Given the description of an element on the screen output the (x, y) to click on. 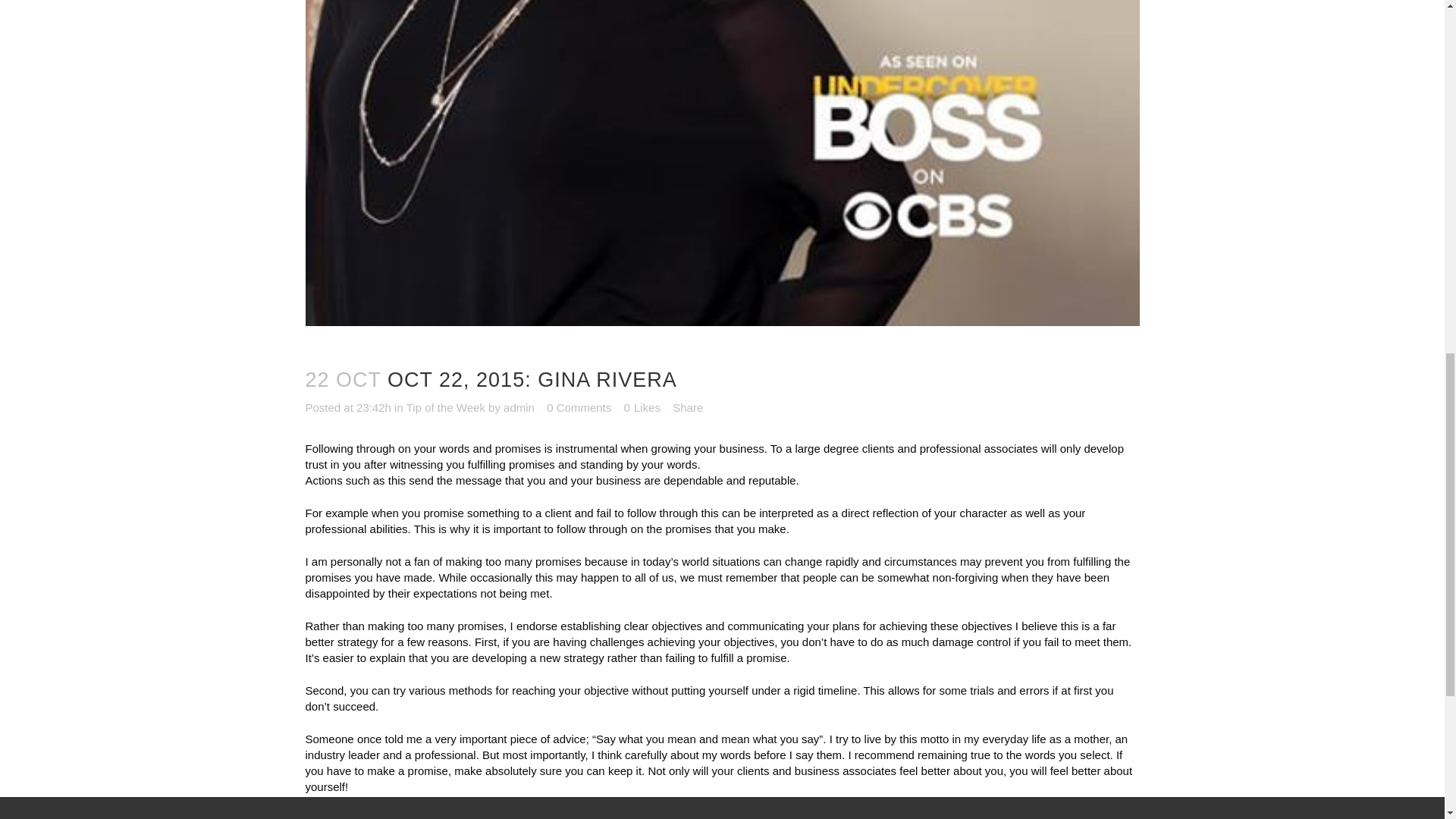
Share (687, 407)
Like this (642, 407)
admin (518, 407)
Tip of the Week (445, 407)
0 Comments (579, 407)
0 Likes (642, 407)
